Given the description of an element on the screen output the (x, y) to click on. 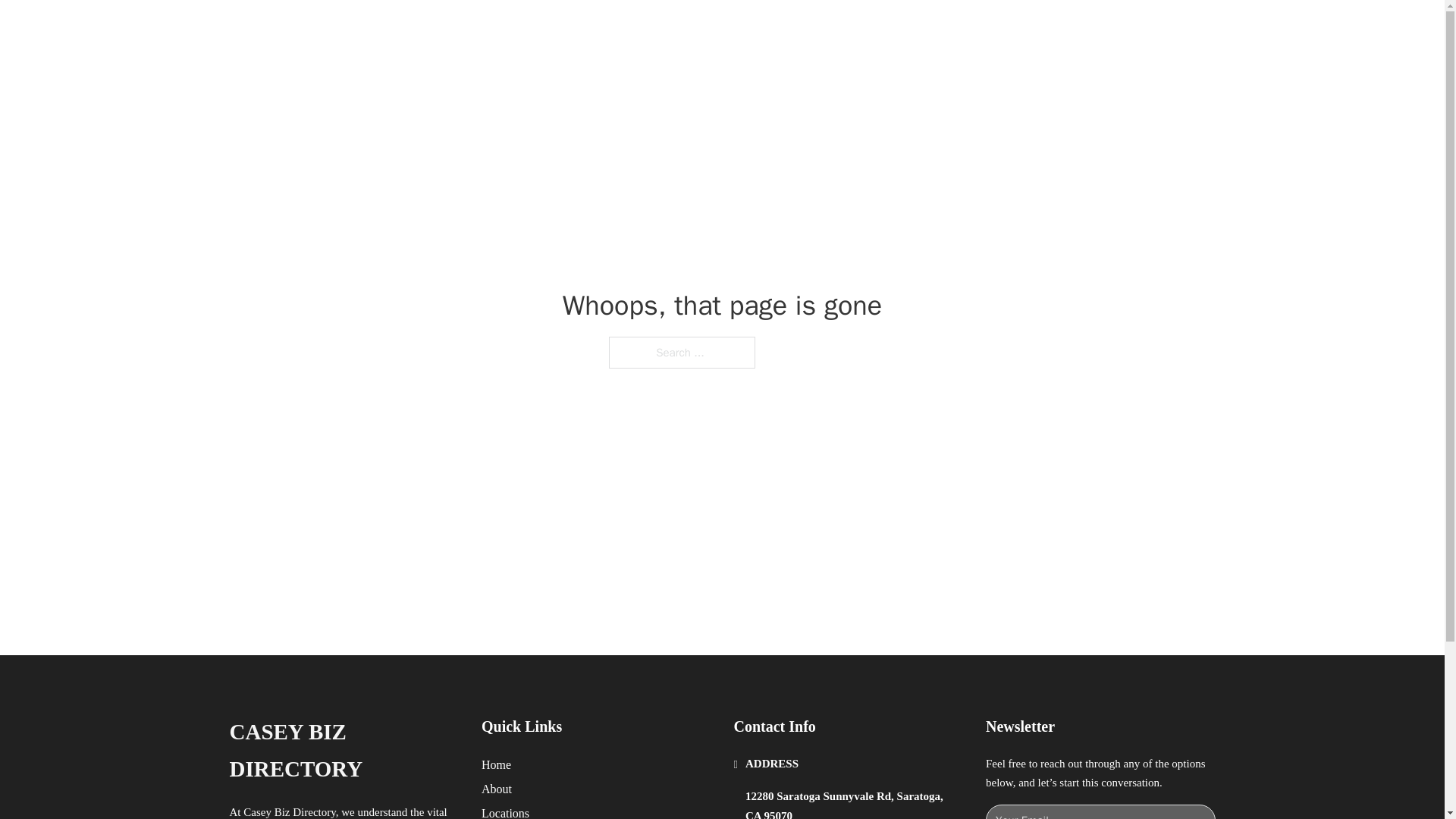
About (496, 788)
CASEY BIZ DIRECTORY (343, 750)
CASEY BIZ DIRECTORY (422, 28)
Home (496, 764)
Locations (505, 811)
